Given the description of an element on the screen output the (x, y) to click on. 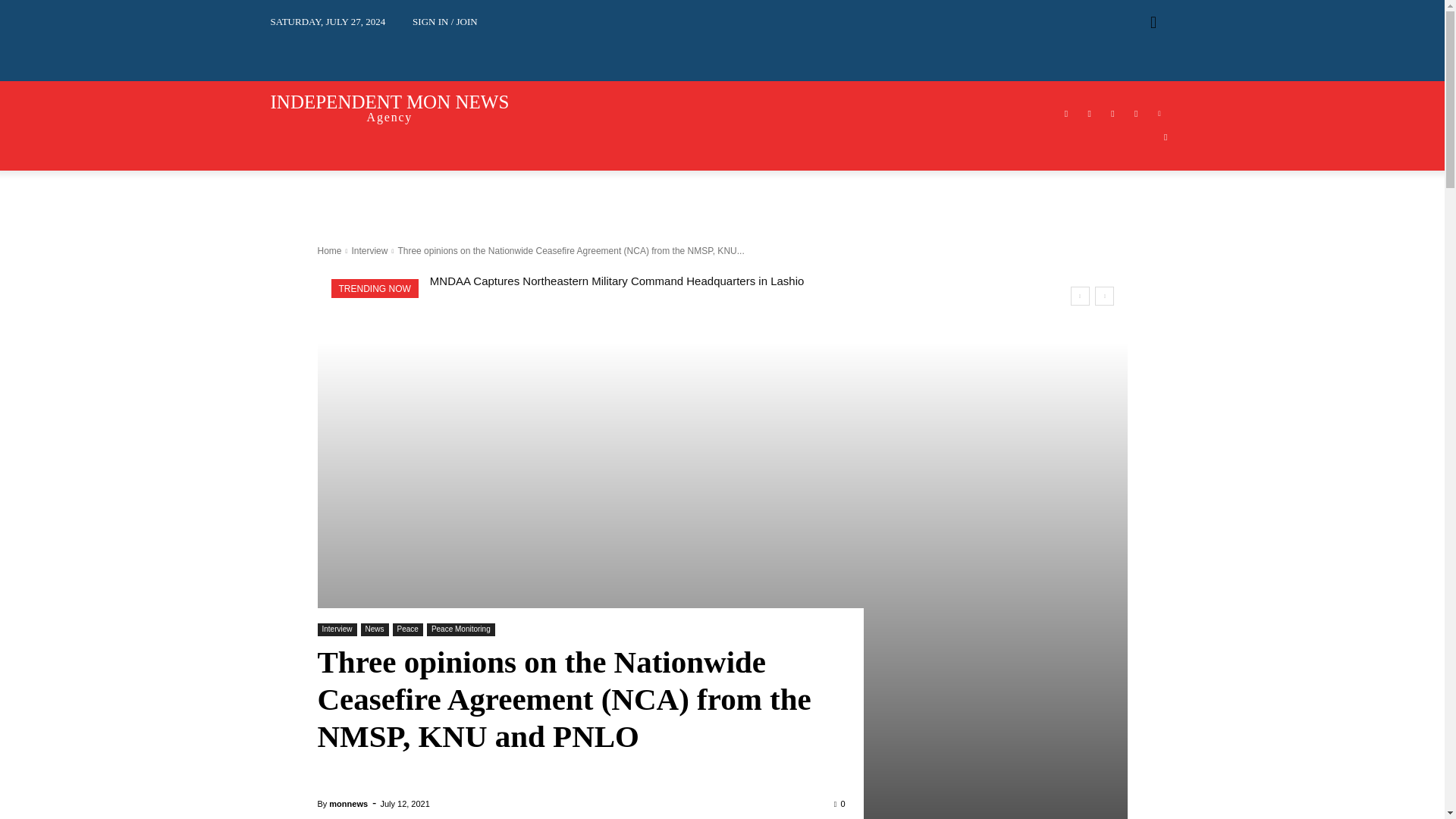
Youtube (1165, 137)
Spotify (1112, 113)
Vimeo (1160, 113)
Flickr (1088, 113)
Twitter (1135, 113)
Facebook (1065, 113)
